Given the description of an element on the screen output the (x, y) to click on. 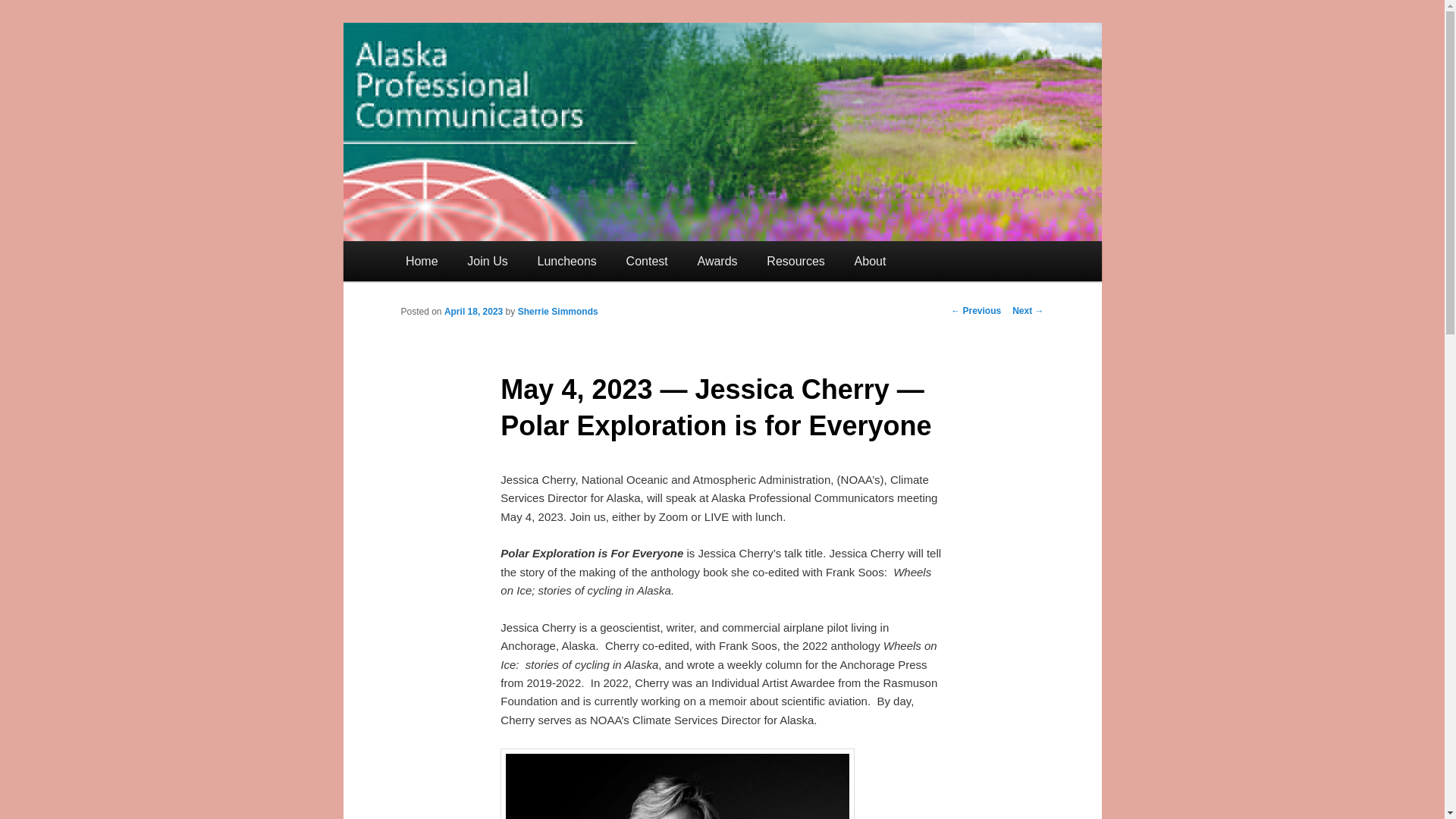
About (870, 260)
Contest (646, 260)
Awards (717, 260)
Luncheons (566, 260)
Resources (796, 260)
10:35 pm (473, 311)
View all posts by Sherrie Simmonds (558, 311)
Home (421, 260)
Join Us (487, 260)
April 18, 2023 (473, 311)
